Given the description of an element on the screen output the (x, y) to click on. 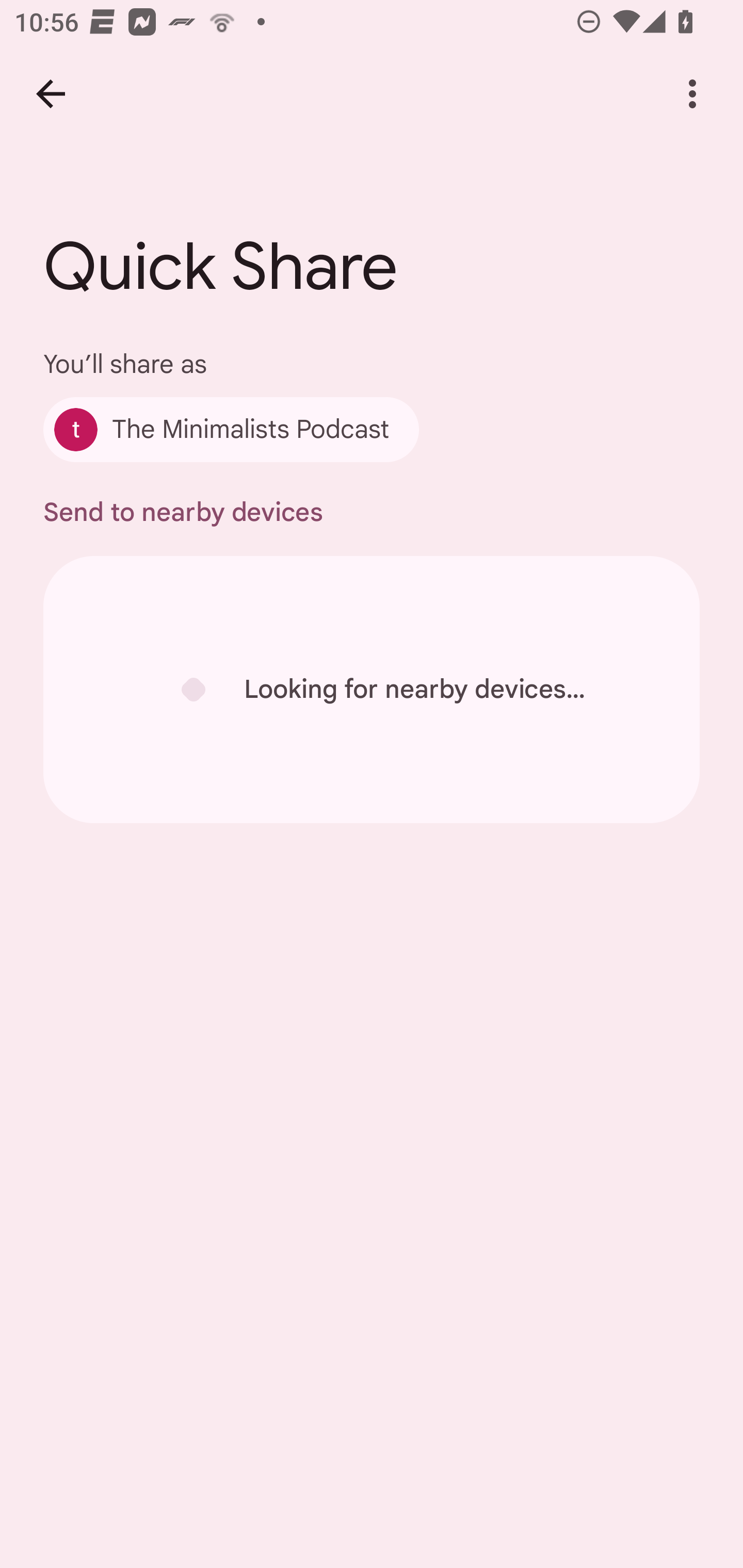
Back (50, 93)
More (692, 93)
The Minimalists Podcast (231, 429)
